Given the description of an element on the screen output the (x, y) to click on. 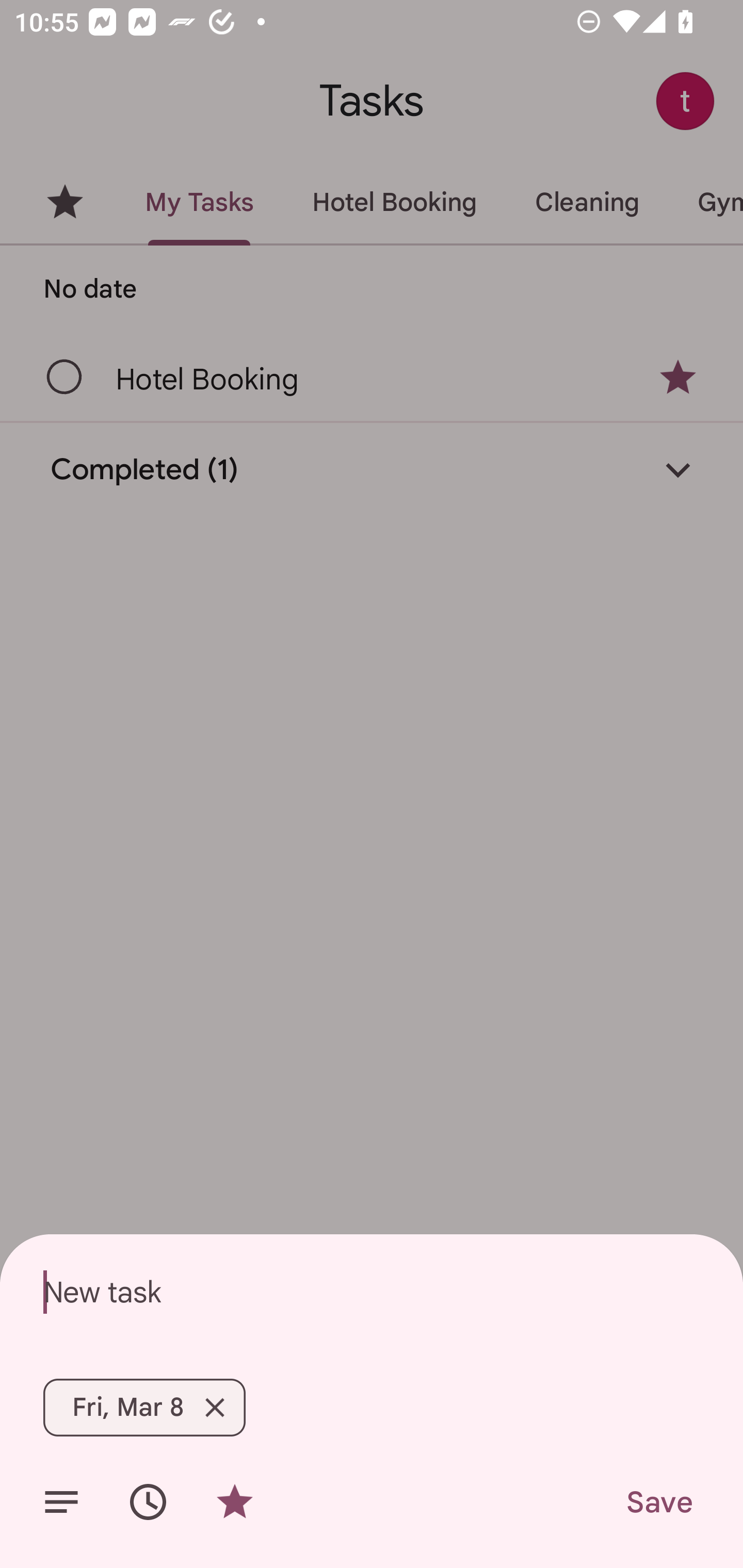
New task (371, 1291)
Fri, Mar 8 Remove Fri, Mar 8 (144, 1407)
Save (659, 1501)
Add details (60, 1501)
Set date/time (147, 1501)
Remove star (234, 1501)
